Given the description of an element on the screen output the (x, y) to click on. 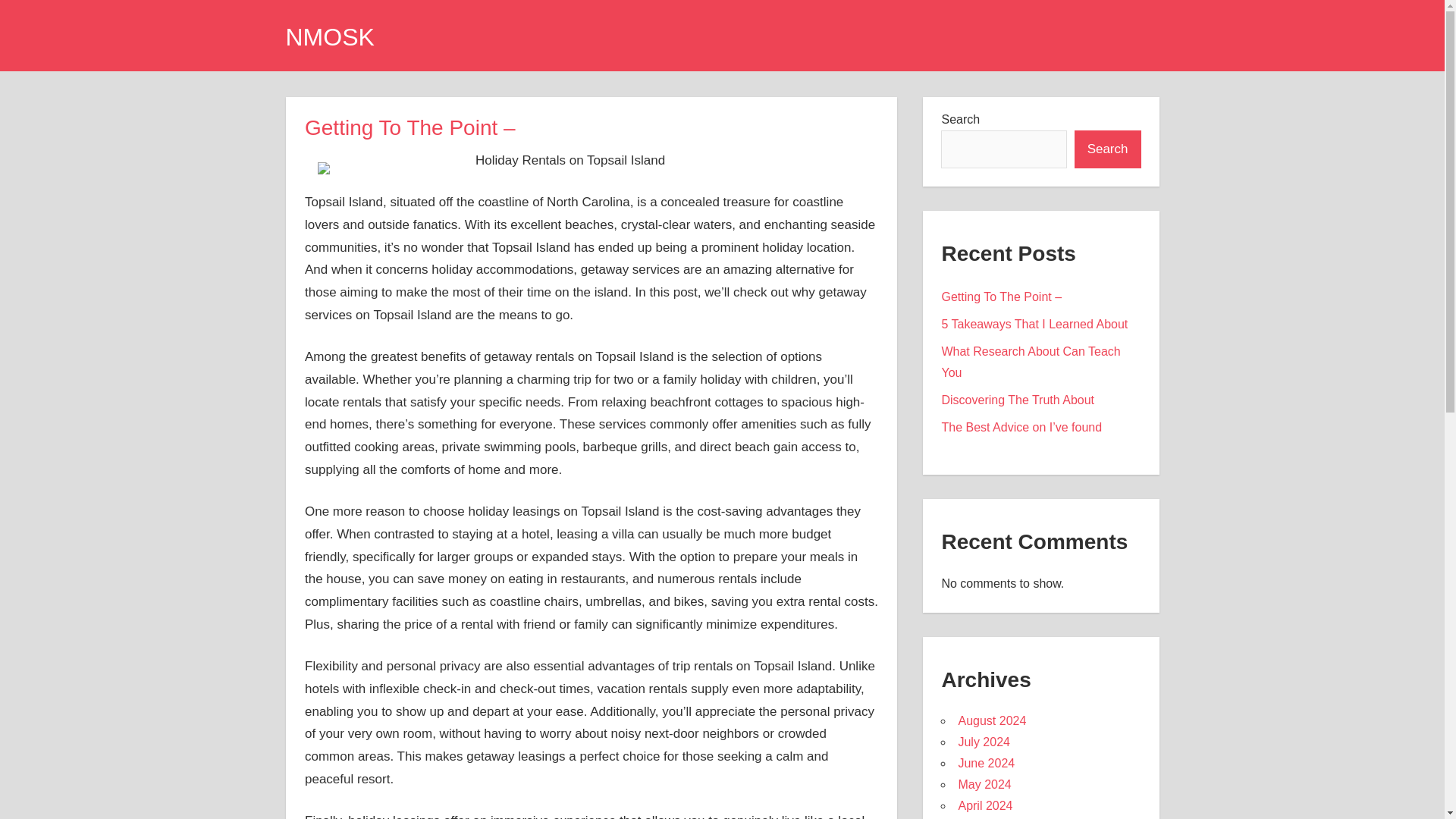
May 2024 (984, 784)
April 2024 (984, 805)
June 2024 (986, 762)
Search (1107, 149)
Discovering The Truth About (1017, 399)
5 Takeaways That I Learned About (1033, 323)
July 2024 (984, 741)
August 2024 (992, 720)
NMOSK (329, 36)
What Research About Can Teach You (1029, 361)
